Given the description of an element on the screen output the (x, y) to click on. 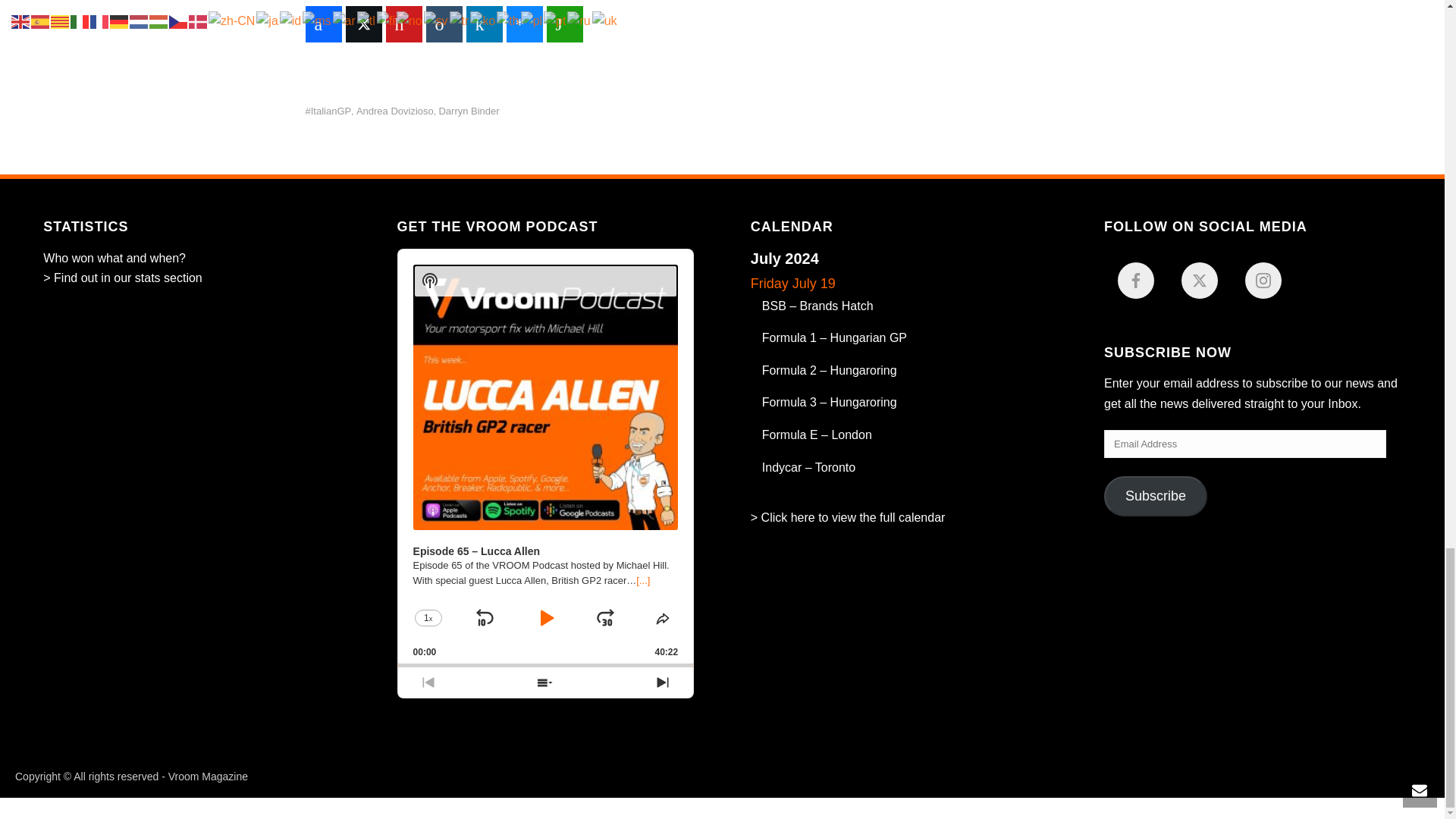
0 (545, 665)
